Given the description of an element on the screen output the (x, y) to click on. 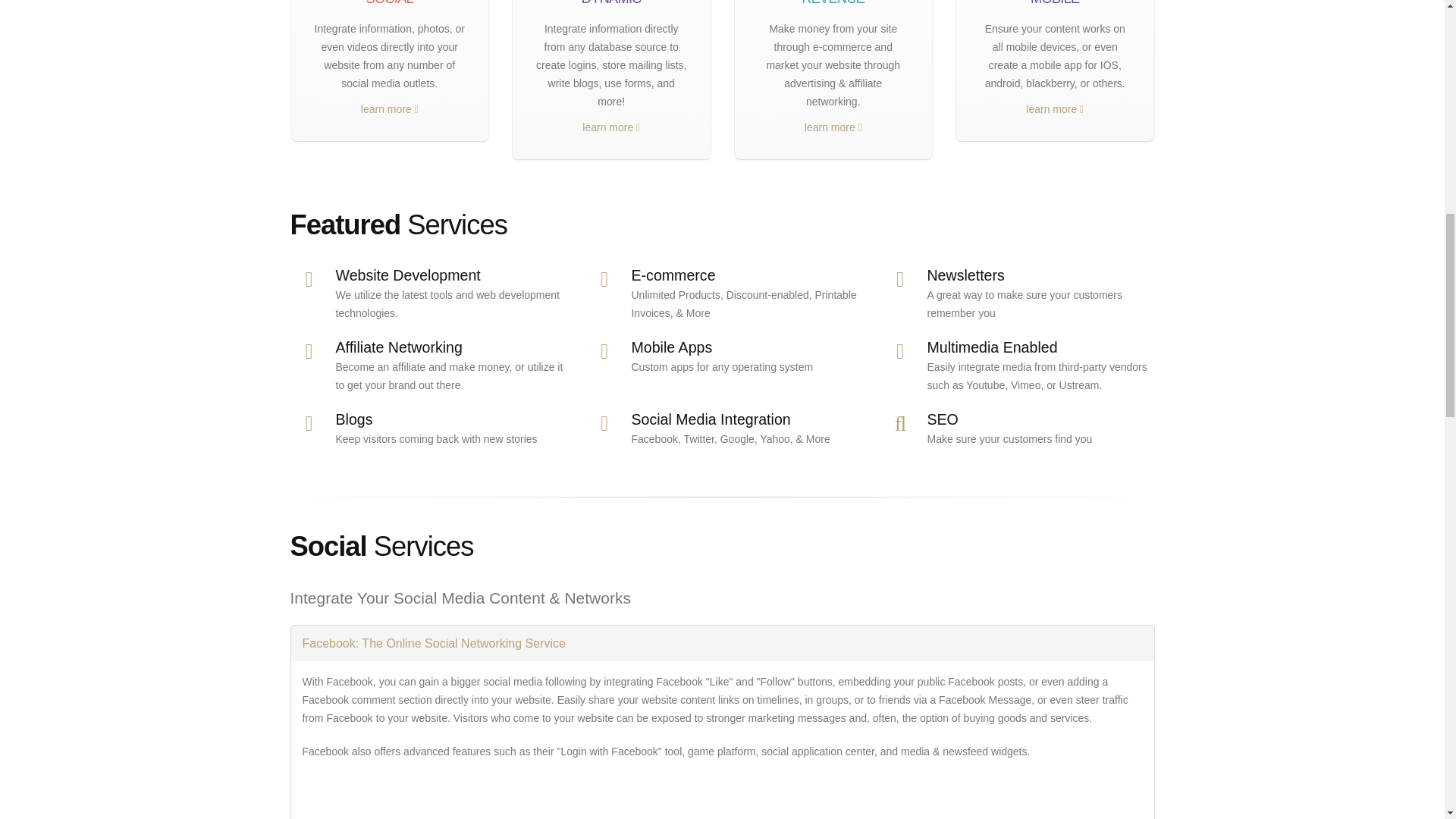
Facebook: The Online Social Networking Service (722, 642)
learn more (611, 126)
learn more (832, 126)
learn more (389, 108)
learn more (1054, 108)
